Given the description of an element on the screen output the (x, y) to click on. 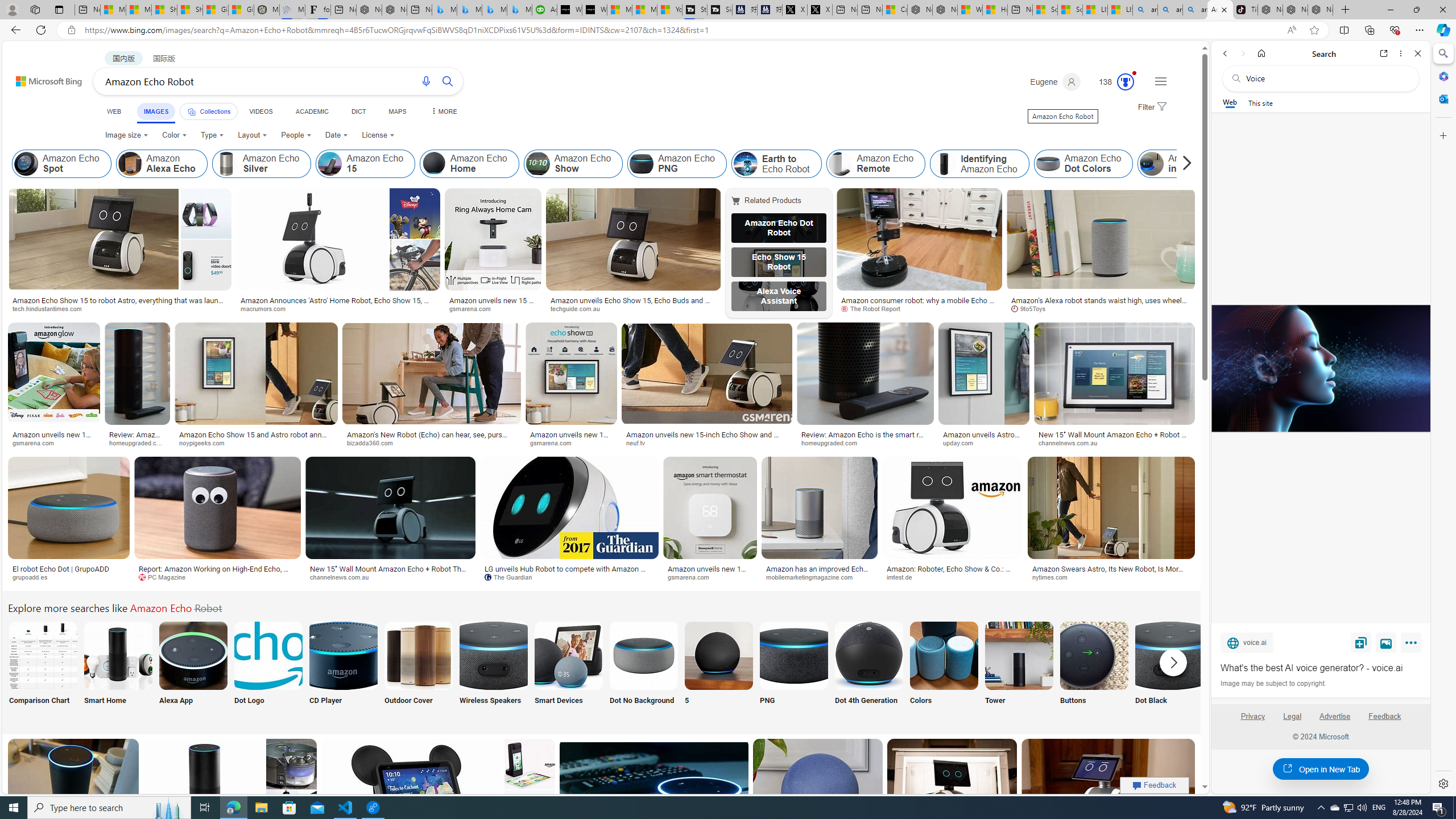
Settings (1442, 783)
voice.ai (1247, 642)
Date (336, 135)
Scroll right (1183, 163)
Colors (944, 669)
Amazon Echo Remote (876, 163)
homeupgraded.com (864, 442)
Class: b_pri_nav_svg (191, 112)
